Given the description of an element on the screen output the (x, y) to click on. 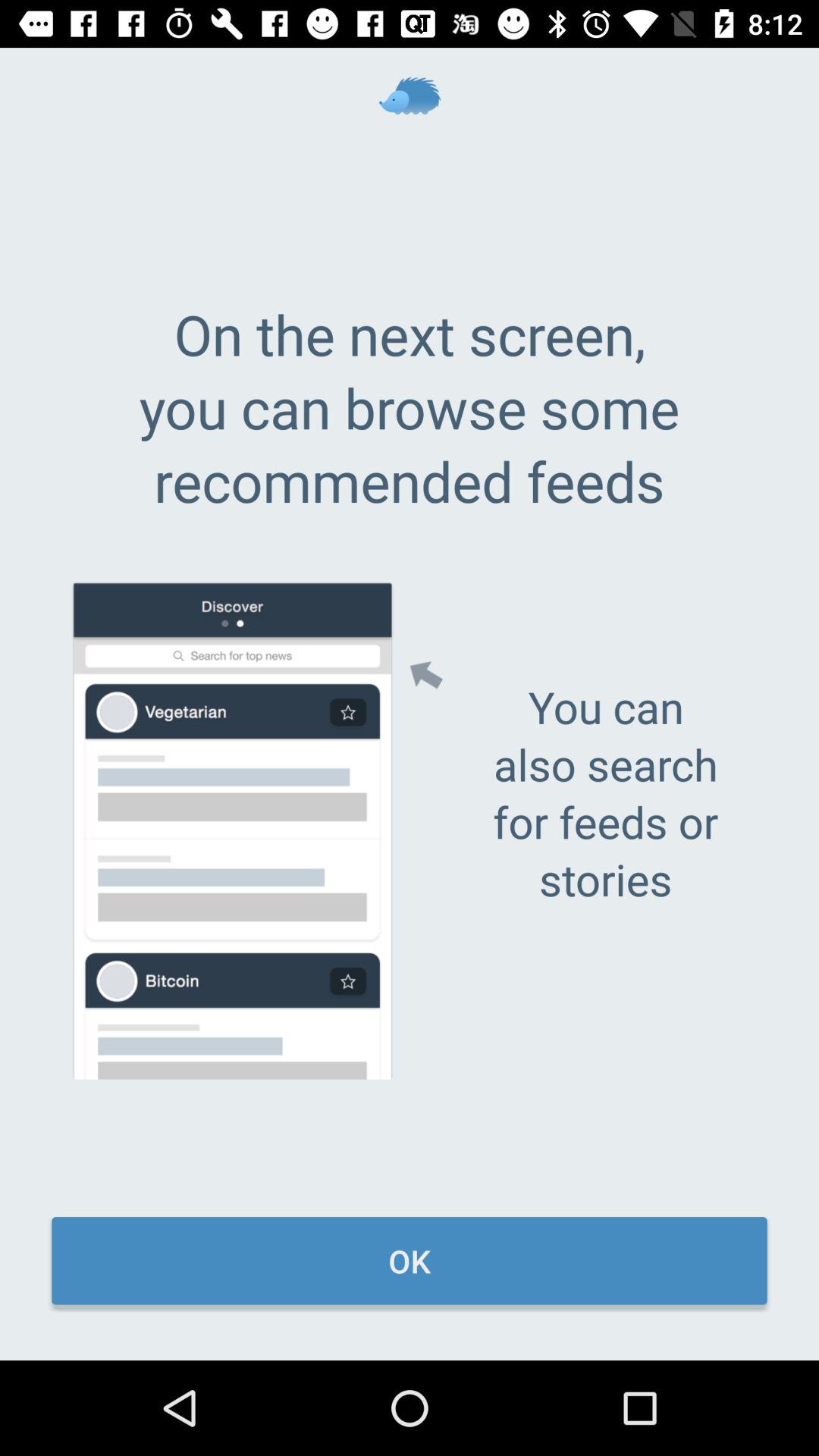
turn off the ok icon (409, 1260)
